Given the description of an element on the screen output the (x, y) to click on. 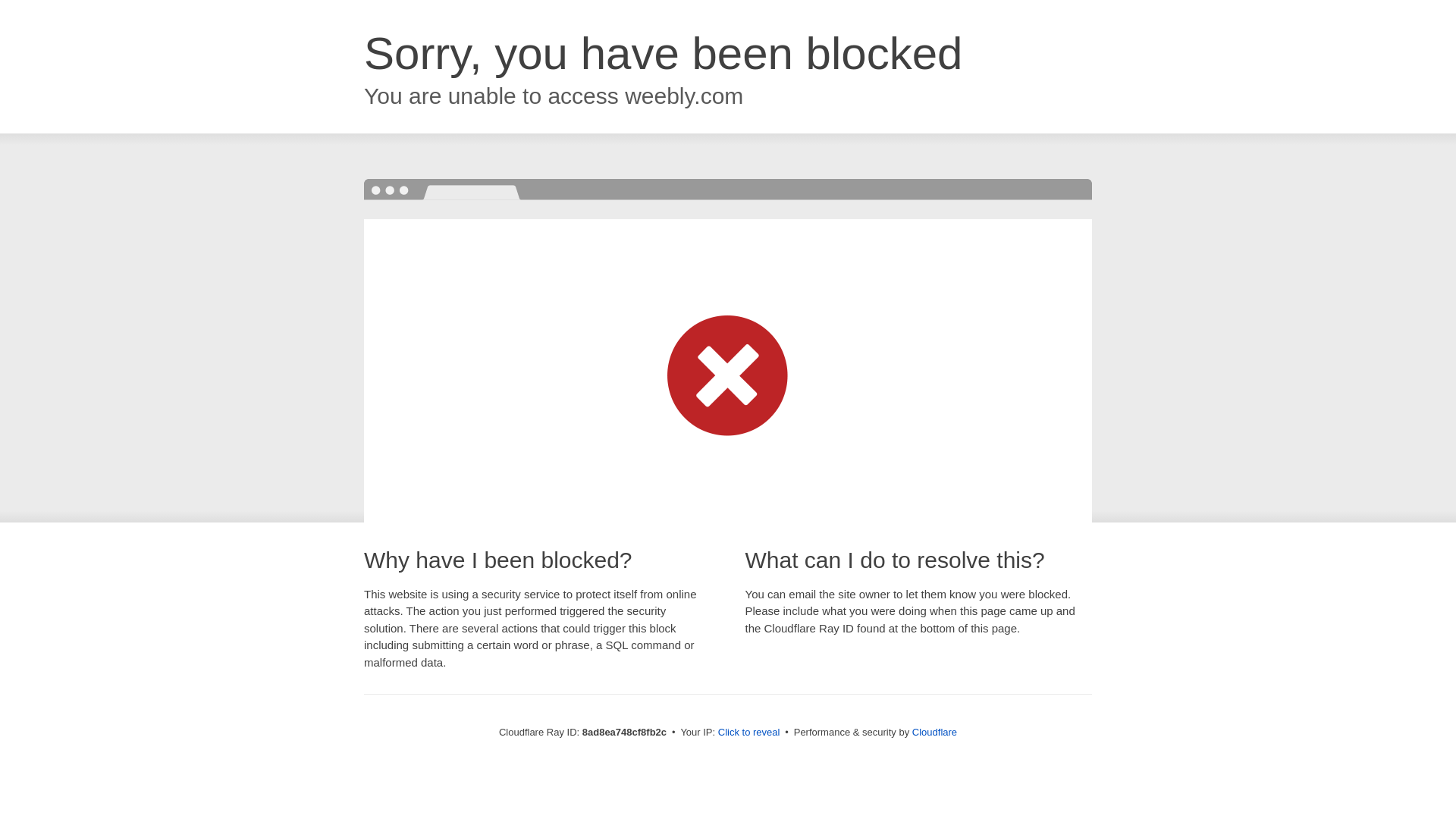
Click to reveal (748, 732)
Cloudflare (934, 731)
